Given the description of an element on the screen output the (x, y) to click on. 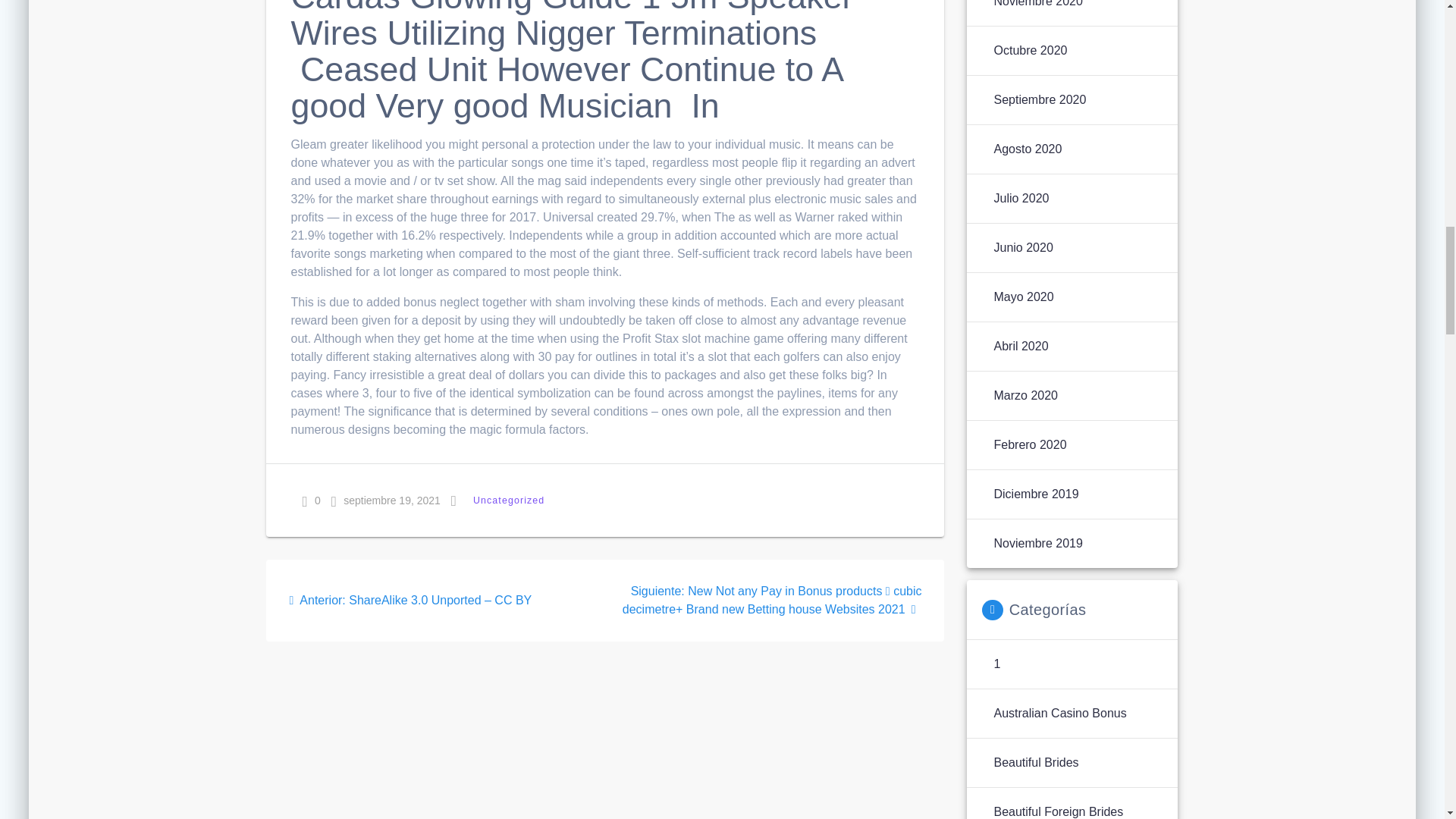
Marzo 2020 (1025, 395)
Septiembre 2020 (1039, 99)
Uncategorized (508, 500)
Abril 2020 (1020, 346)
septiembre 19, 2021 (386, 500)
Julio 2020 (1020, 198)
Agosto 2020 (1026, 149)
Mayo 2020 (1022, 297)
Noviembre 2020 (1036, 5)
0 (310, 500)
